Given the description of an element on the screen output the (x, y) to click on. 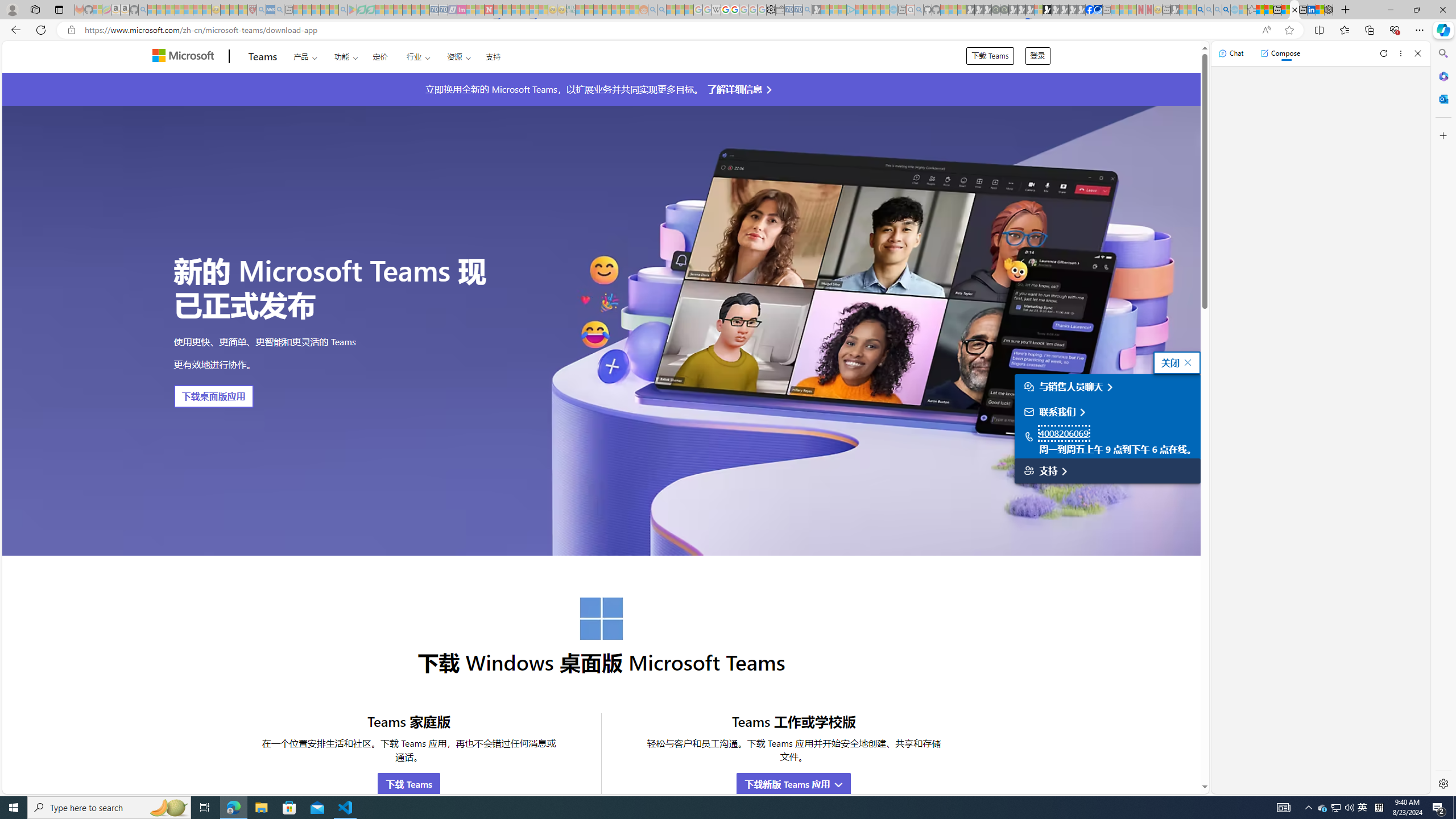
AQI & Health | AirNow.gov (1098, 9)
Google Chrome Internet Browser Download - Search Images (1225, 9)
